Given the description of an element on the screen output the (x, y) to click on. 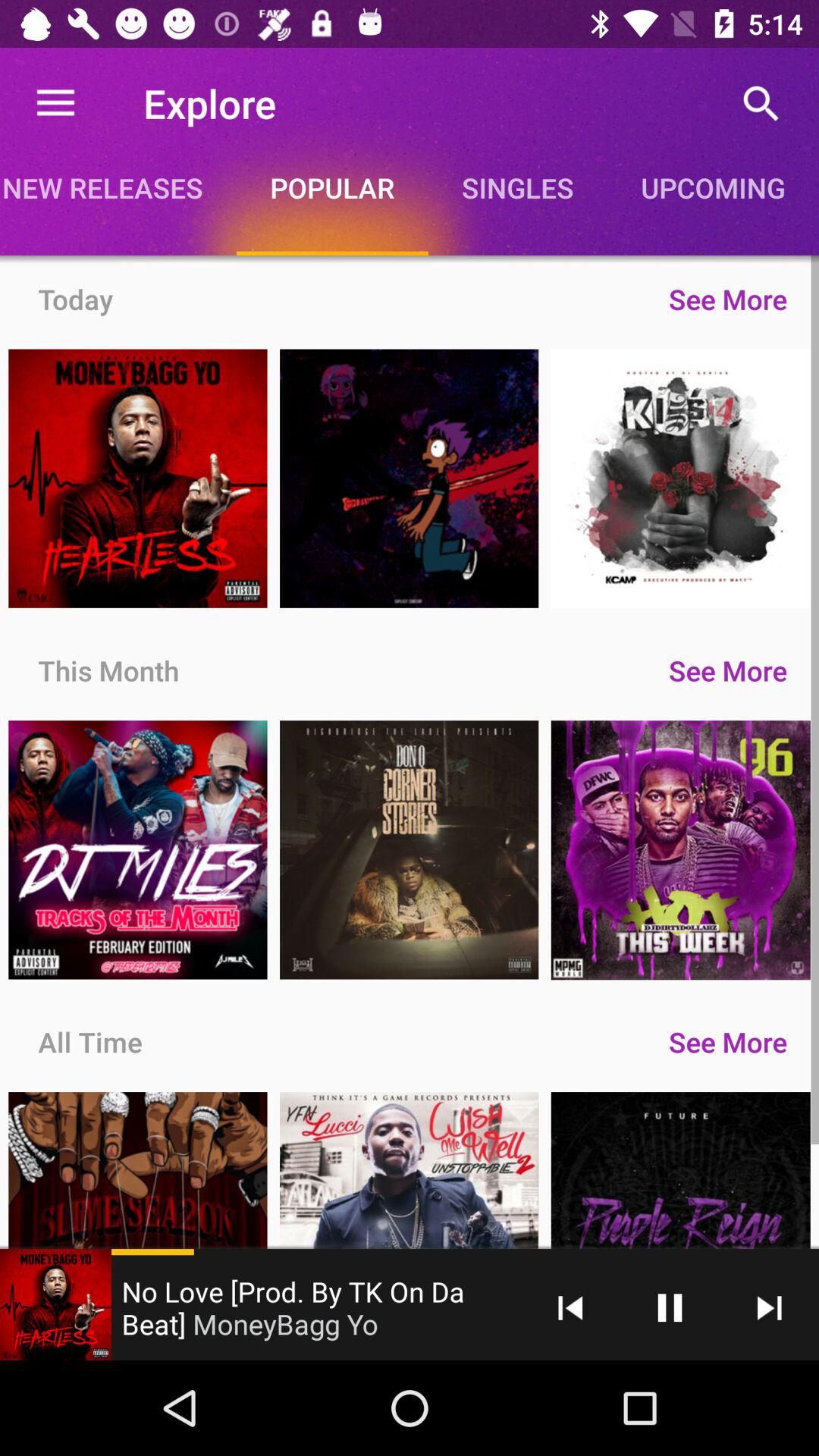
launch item to the left of the upcoming (517, 187)
